Given the description of an element on the screen output the (x, y) to click on. 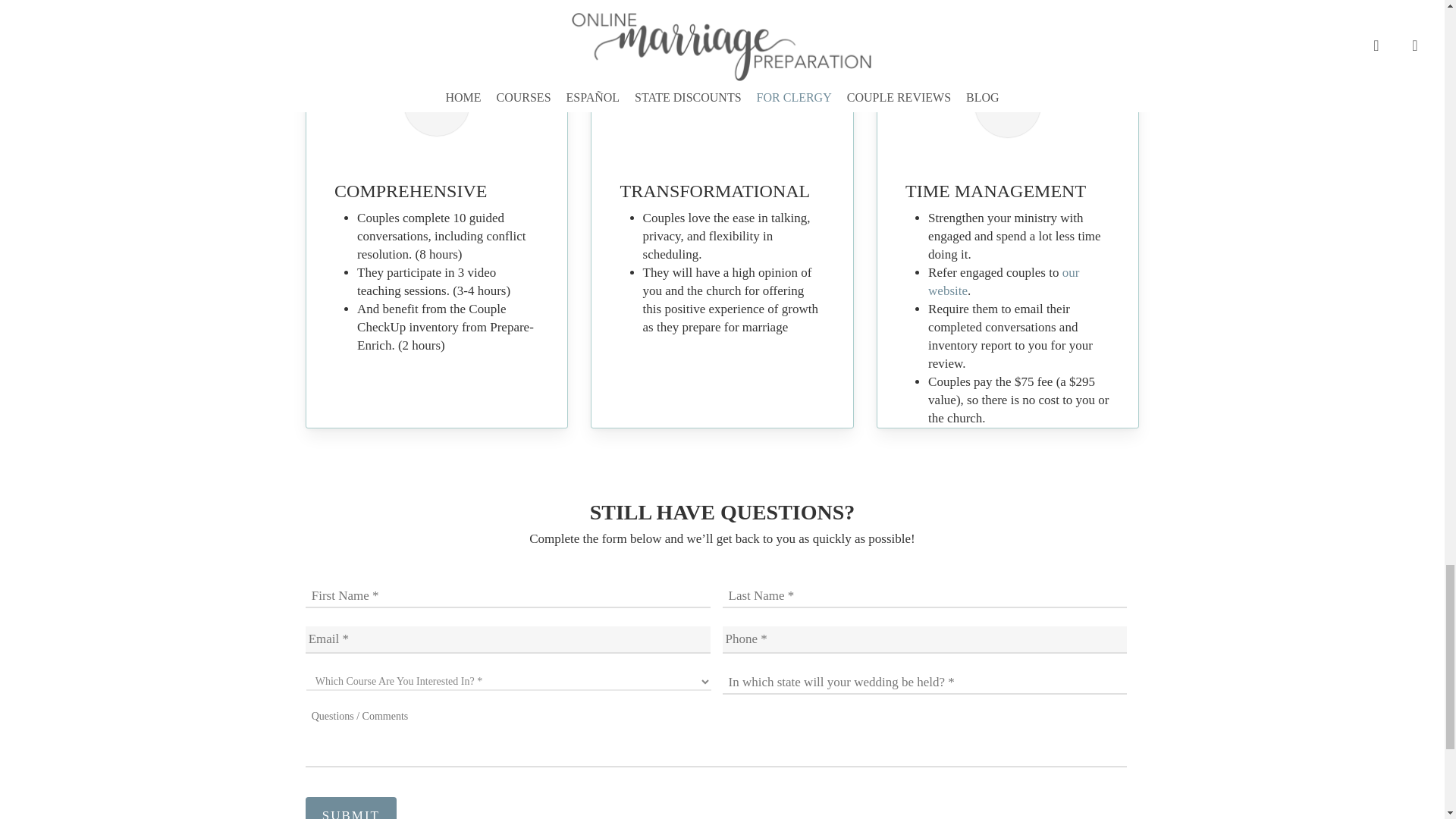
Submit (350, 807)
Submit (350, 807)
our website (1003, 281)
